Given the description of an element on the screen output the (x, y) to click on. 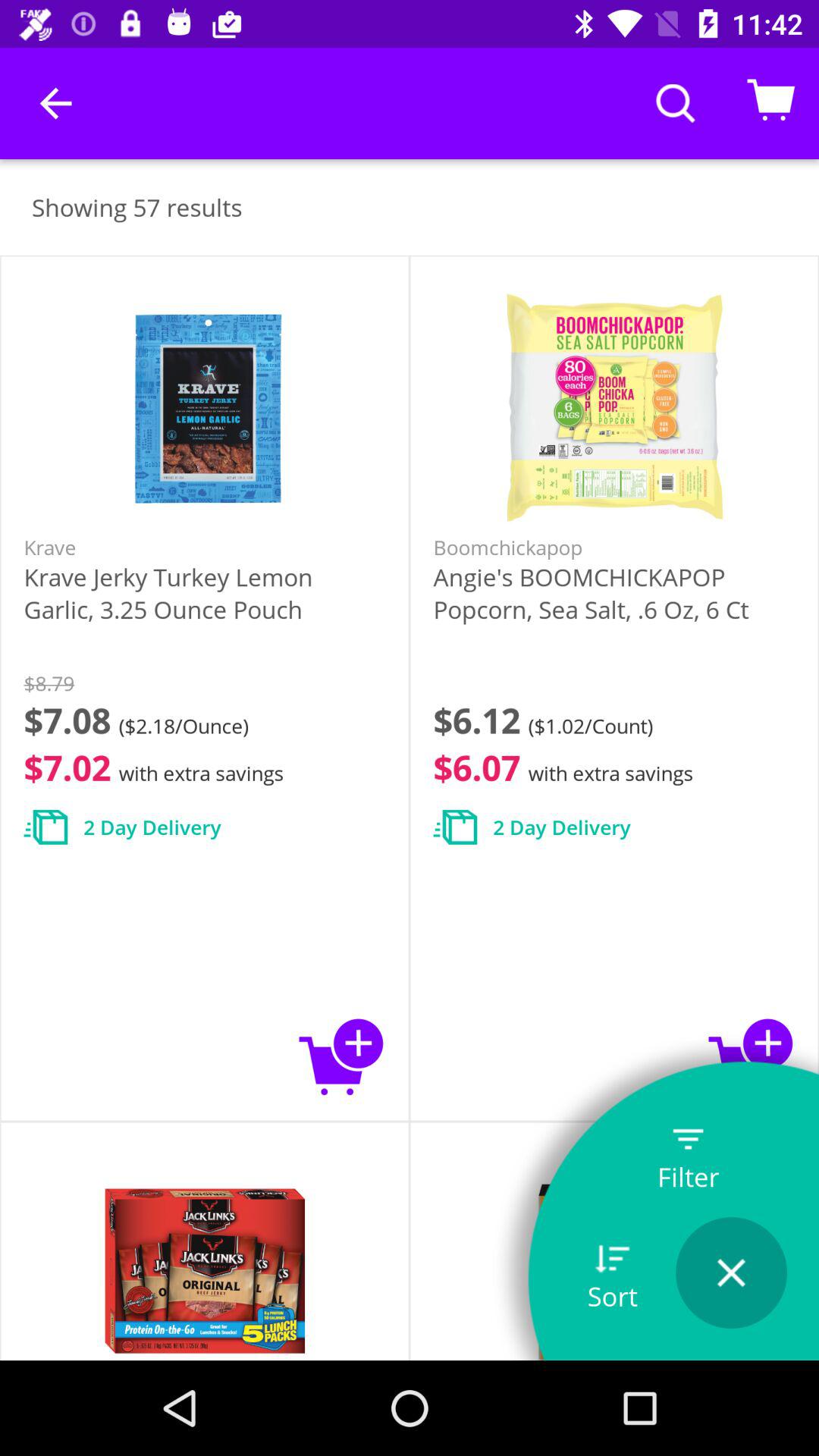
add to cart (342, 1056)
